Given the description of an element on the screen output the (x, y) to click on. 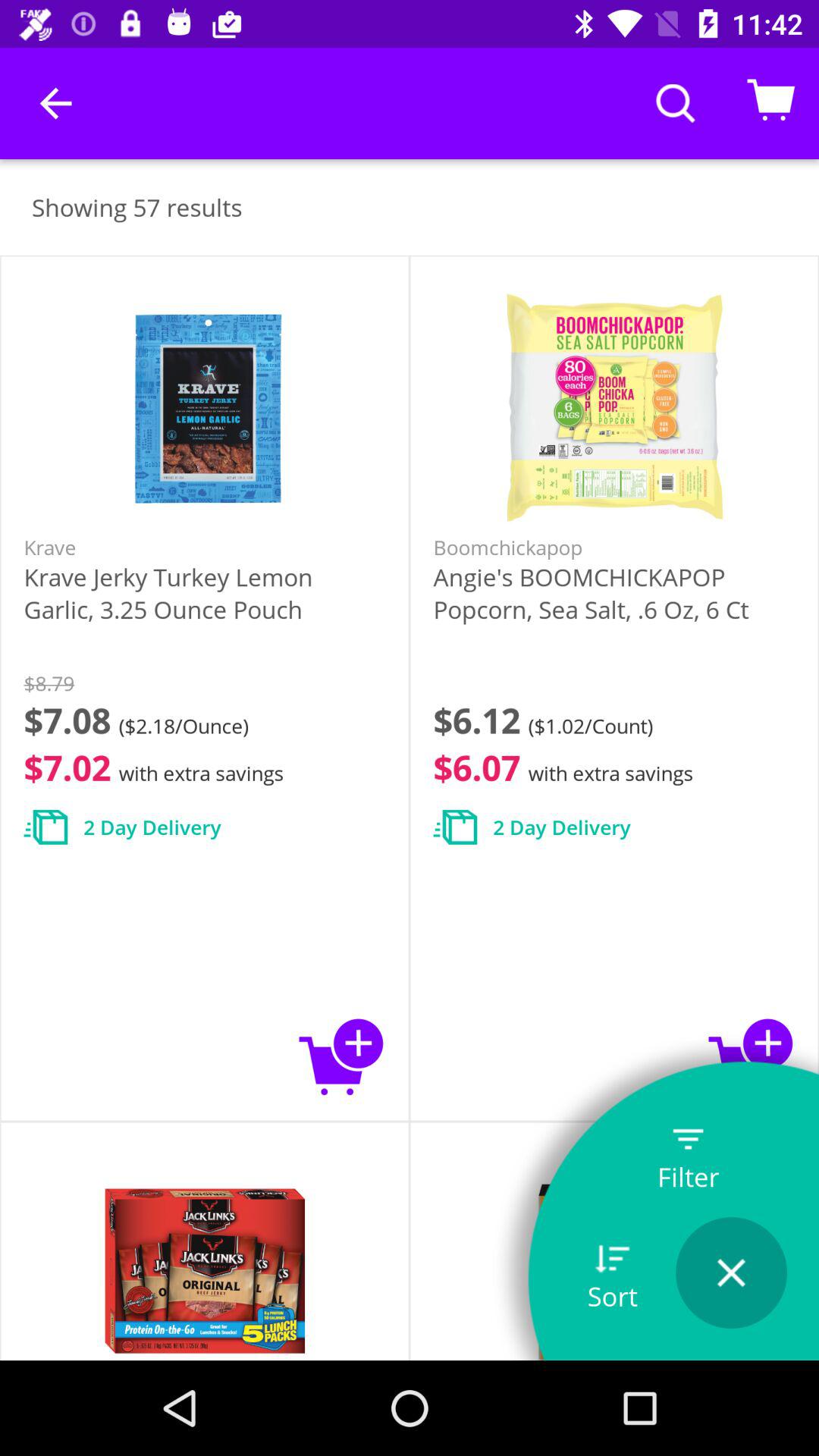
add to cart (342, 1056)
